Given the description of an element on the screen output the (x, y) to click on. 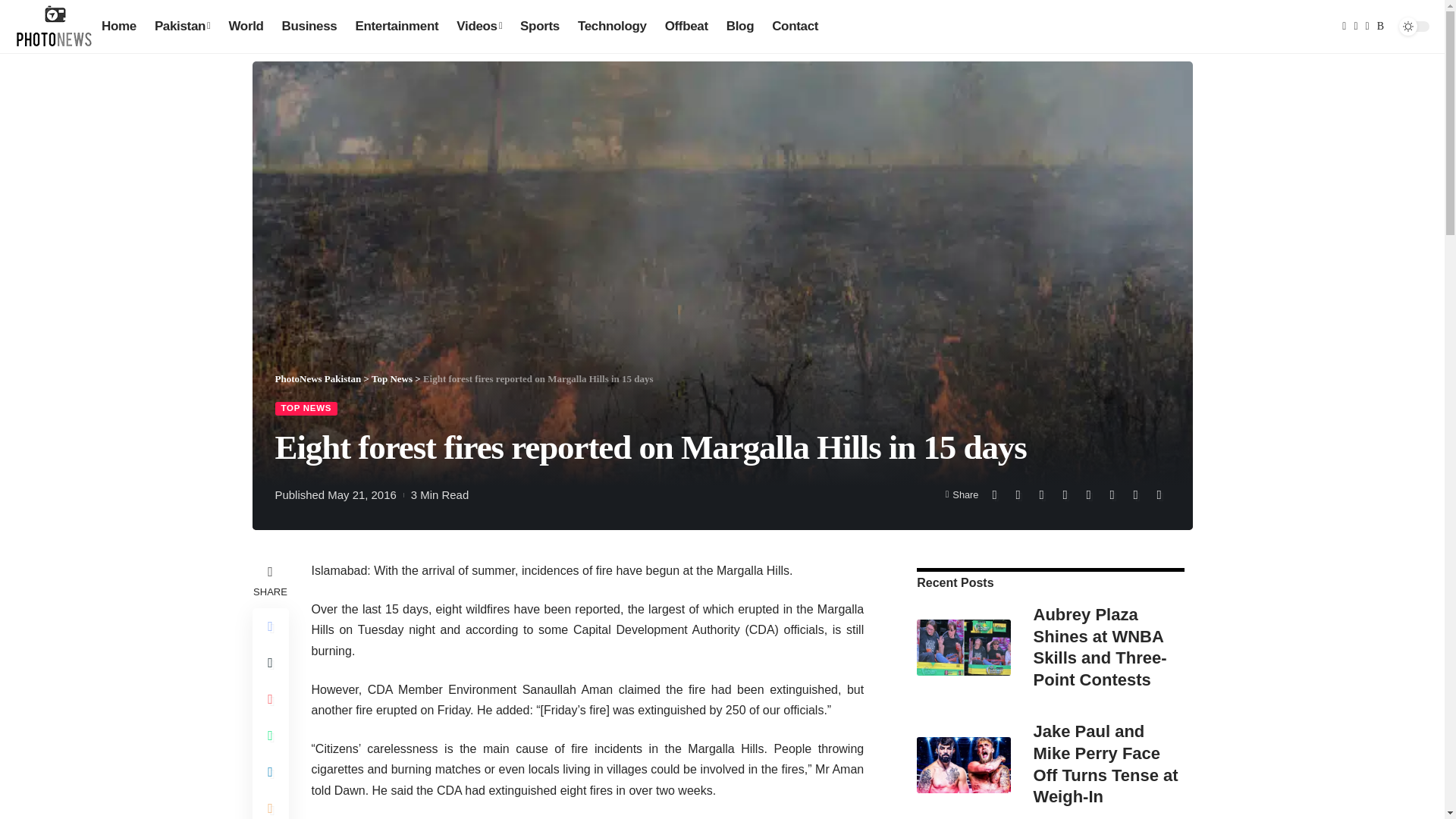
World (245, 26)
Offbeat (686, 26)
Go to PhotoNews Pakistan. (318, 378)
Home (119, 26)
Videos (478, 26)
Jake Paul and Mike Perry Face Off Turns Tense at Weigh-In (963, 765)
Aubrey Plaza Shines at WNBA Skills and Three-Point Contests (963, 647)
Sports (540, 26)
Business (309, 26)
Contact (794, 26)
Technology (612, 26)
Entertainment (396, 26)
Pakistan (182, 26)
Blog (739, 26)
Go to the Top News Category archives. (391, 378)
